Given the description of an element on the screen output the (x, y) to click on. 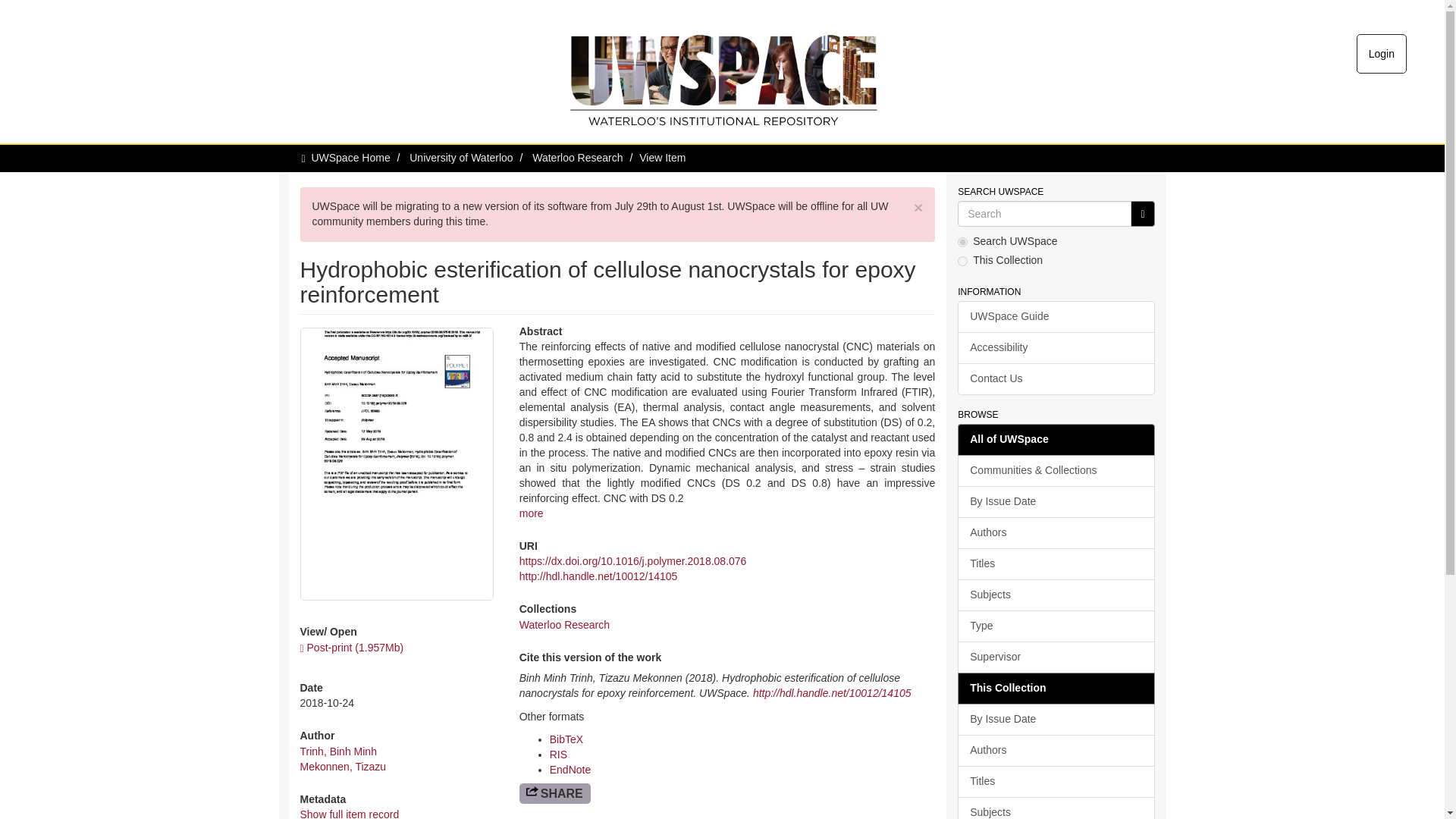
untranslated (1142, 213)
Waterloo Research (564, 624)
BibTeX (566, 739)
UWSpace Home (350, 157)
RIS (558, 754)
Show full item record (348, 813)
Mekonnen, Tizazu (343, 766)
Trinh, Binh Minh (338, 751)
Search UWSpace (1044, 213)
University of Waterloo (460, 157)
Login (1381, 53)
Waterloo Research (577, 157)
more (531, 512)
EndNote (570, 769)
